Given the description of an element on the screen output the (x, y) to click on. 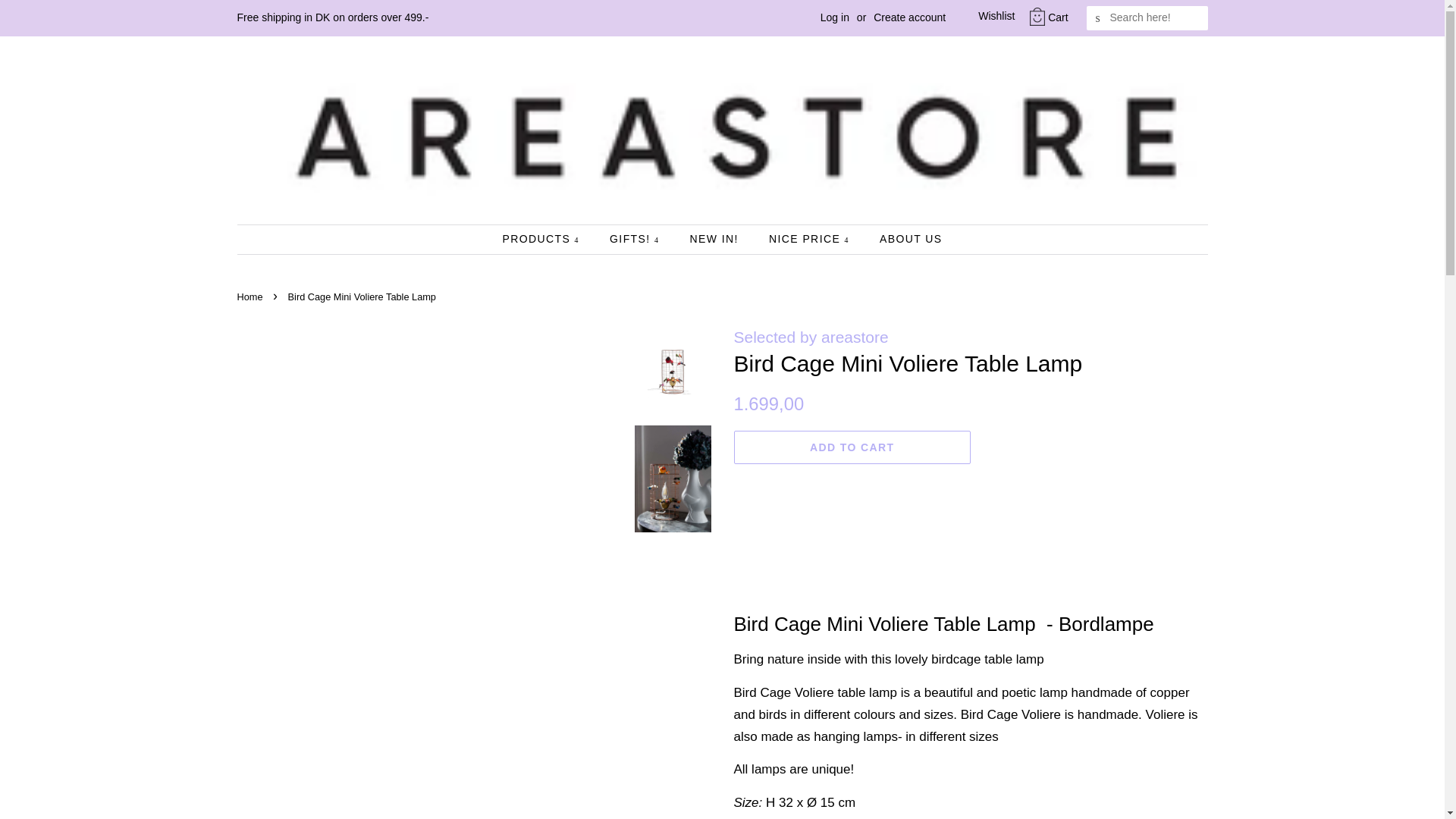
Wishlist (984, 16)
Create account (908, 17)
Selected by areastore (810, 336)
Back to the frontpage (250, 296)
SEARCH (1097, 18)
Log in (834, 17)
Cart (1057, 18)
